Given the description of an element on the screen output the (x, y) to click on. 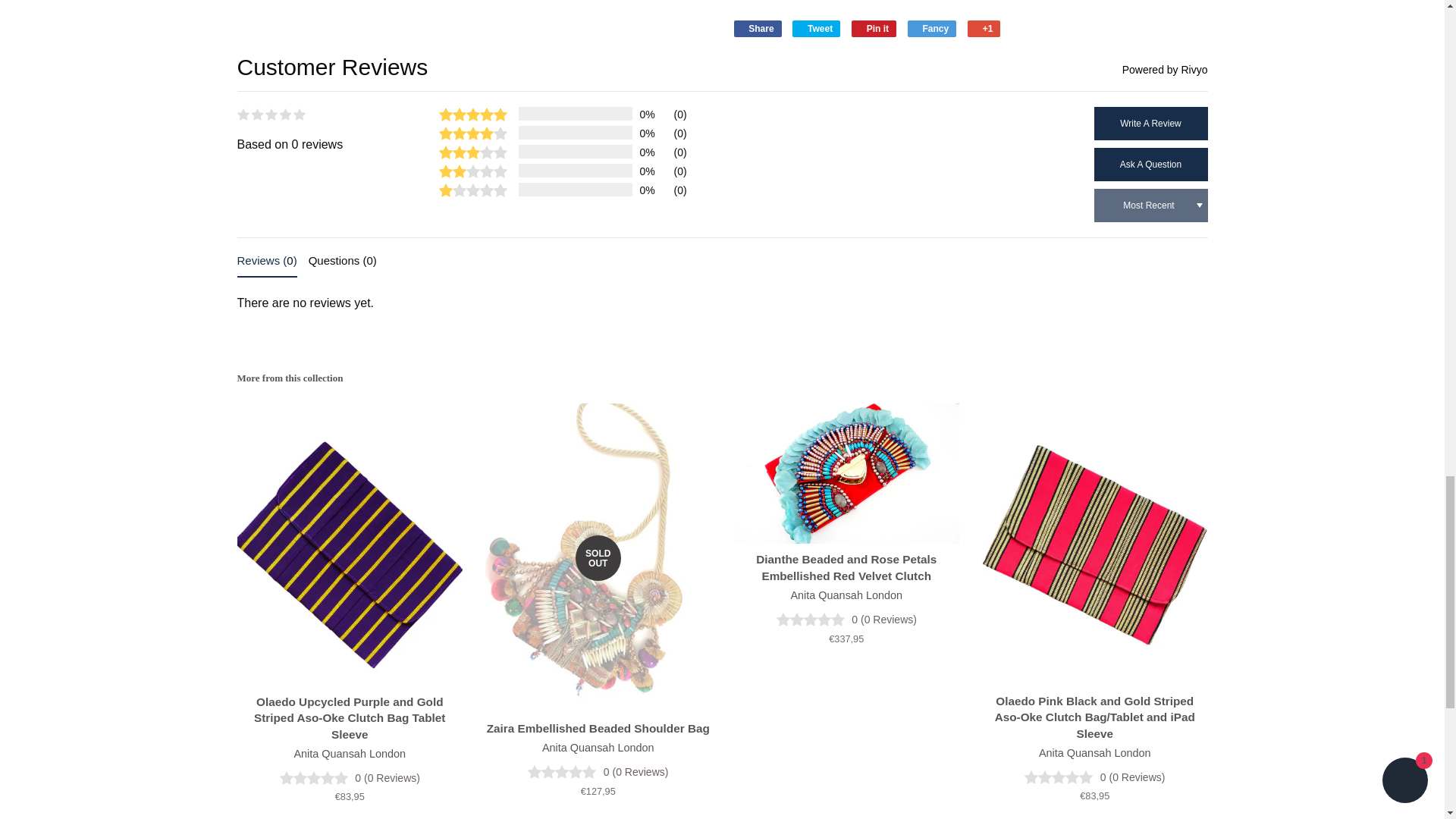
Tweet on Twitter (816, 28)
Pin on Pinterest (873, 28)
Share on Facebook (757, 28)
Add to Fancy (931, 28)
